Given the description of an element on the screen output the (x, y) to click on. 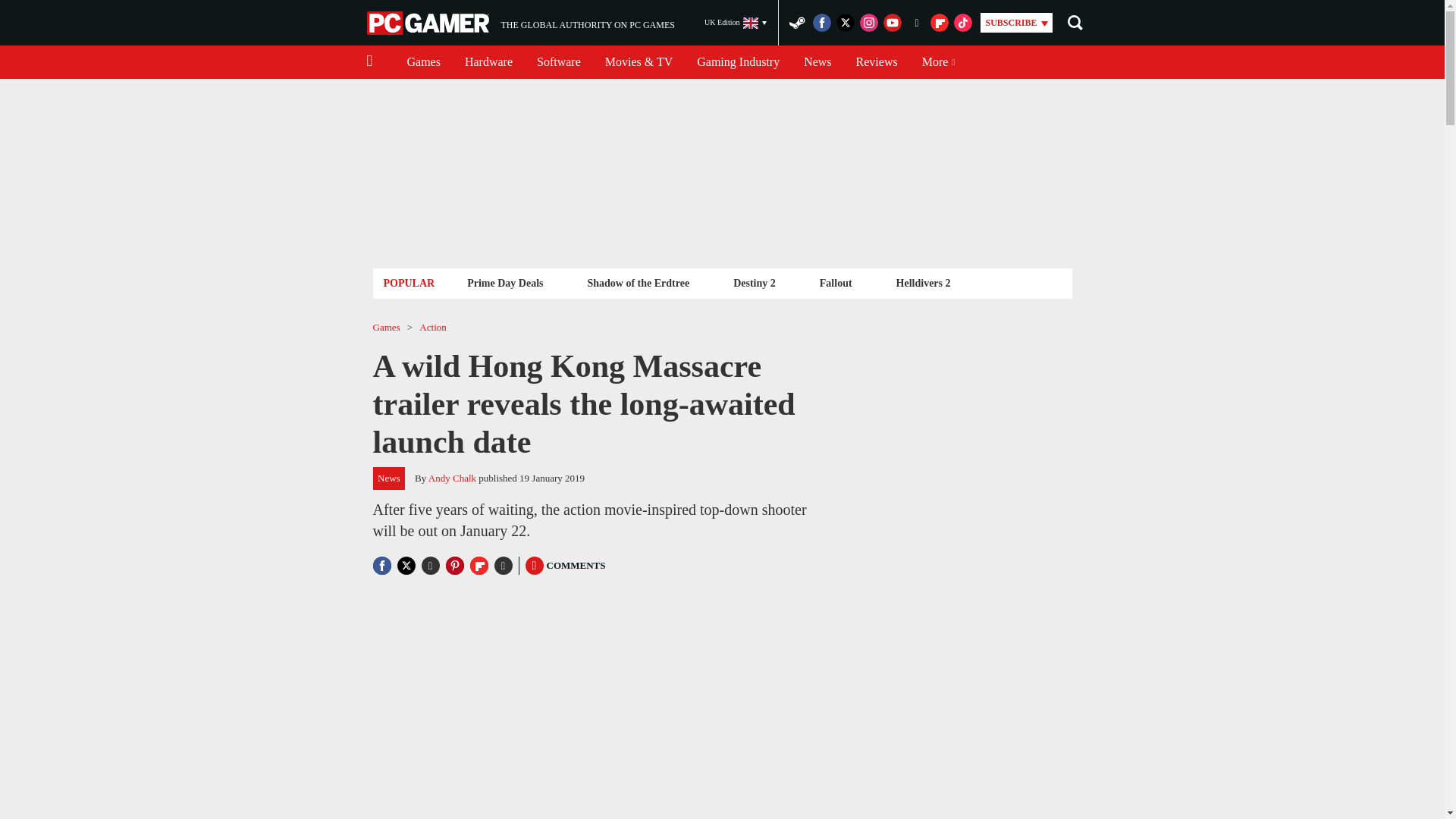
UK Edition (735, 22)
Software (558, 61)
Hardware (488, 61)
News (817, 61)
Prime Day Deals (504, 282)
Shadow of the Erdtree (637, 282)
Games (422, 61)
PC Gamer (429, 22)
Gaming Industry (520, 22)
Reviews (738, 61)
